Given the description of an element on the screen output the (x, y) to click on. 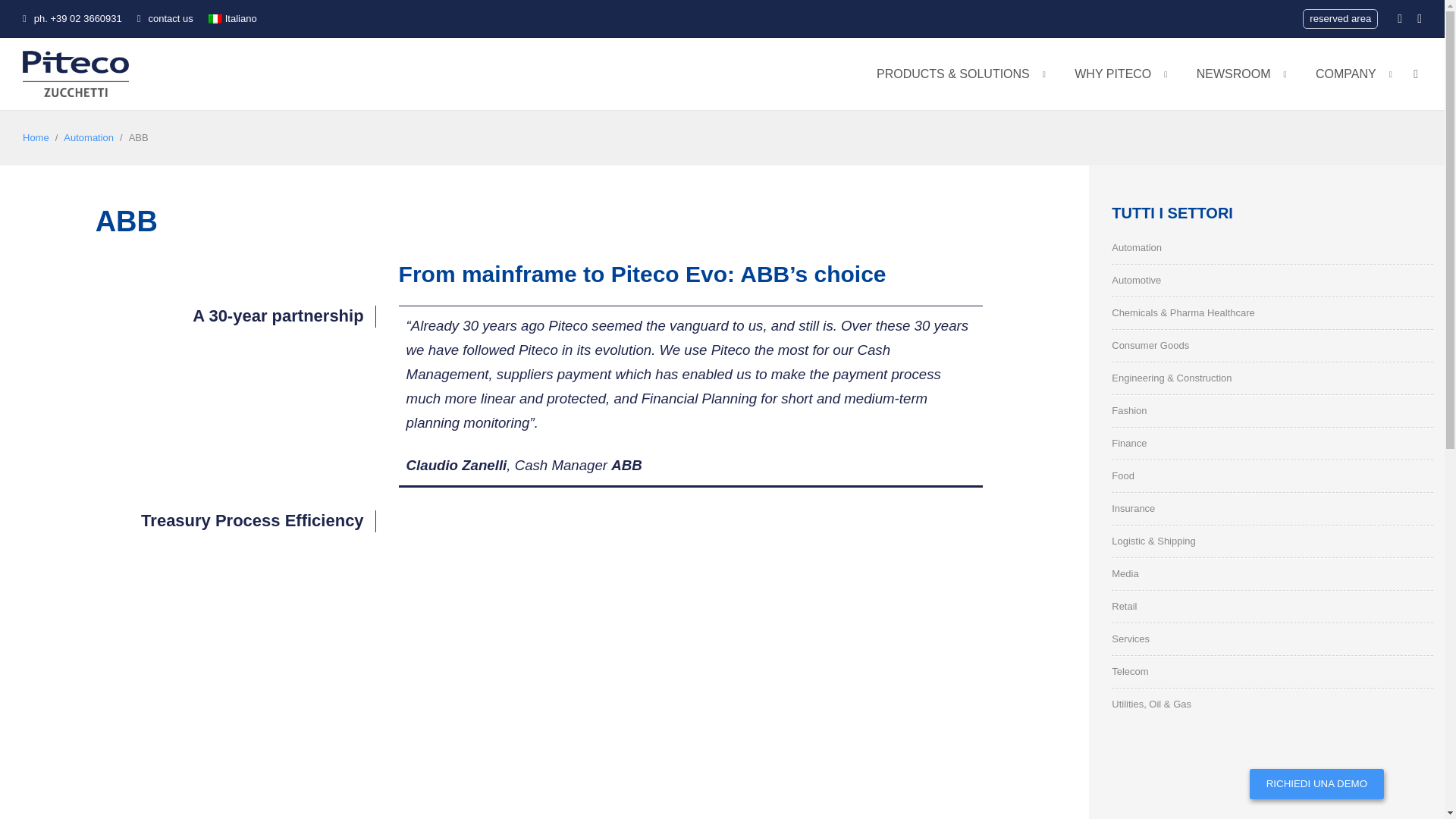
Italiano (232, 19)
Italiano (232, 19)
contact us (164, 18)
WHY PITECO (1114, 85)
reserved area (1340, 19)
